Given the description of an element on the screen output the (x, y) to click on. 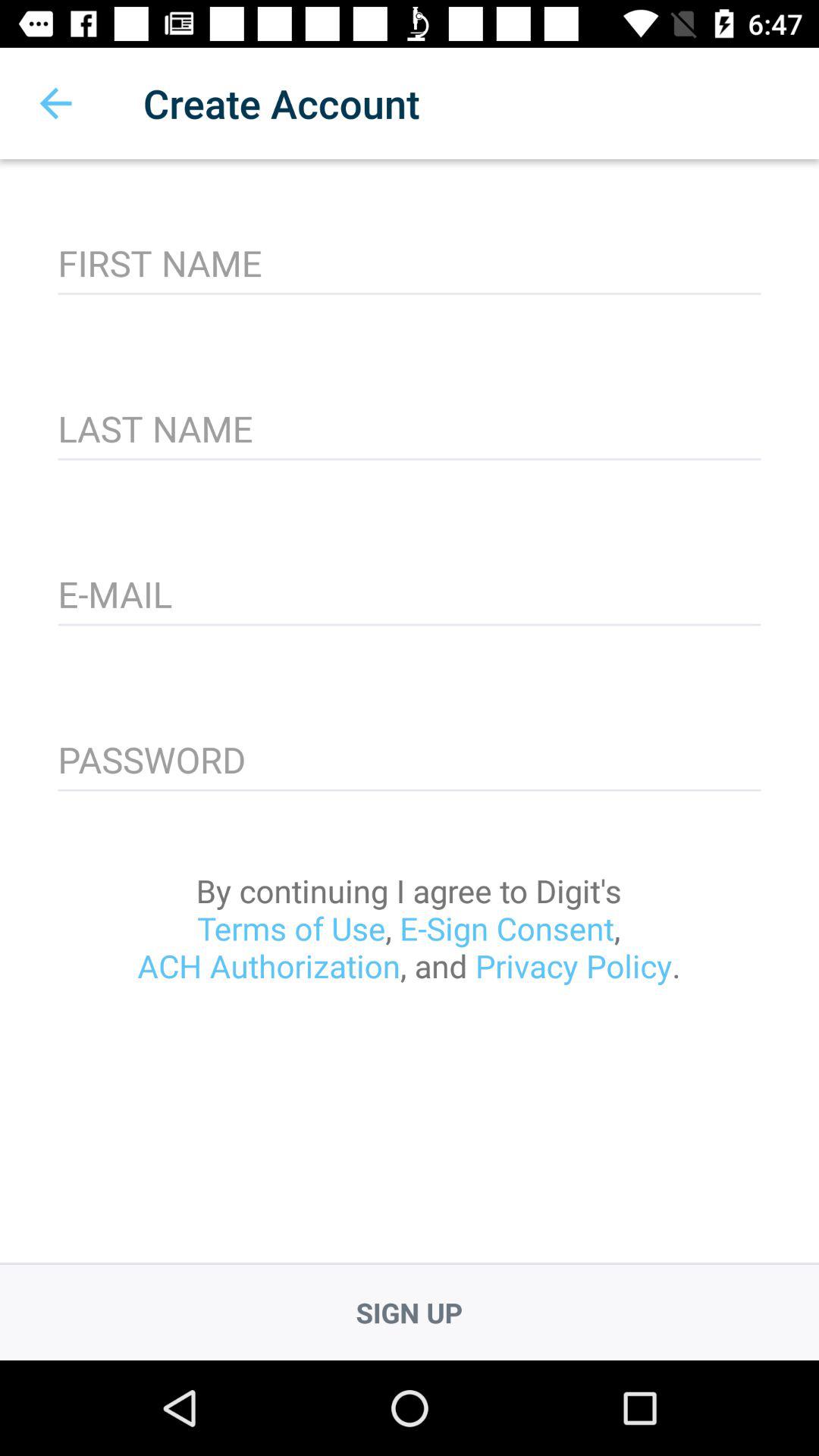
jump to by continuing i (408, 928)
